Given the description of an element on the screen output the (x, y) to click on. 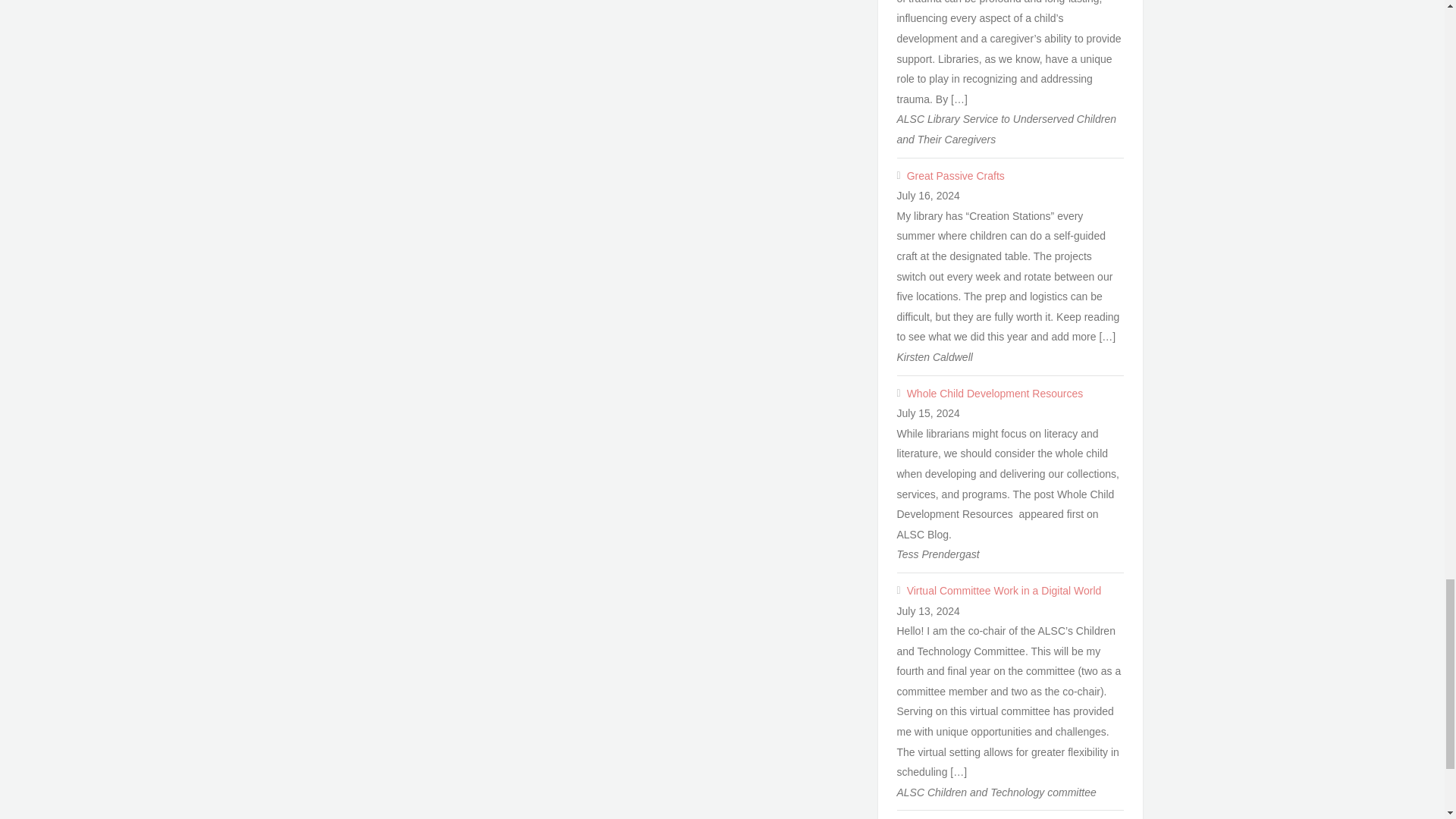
Whole Child Development Resources  (1015, 394)
Great Passive Crafts (1015, 176)
